Given the description of an element on the screen output the (x, y) to click on. 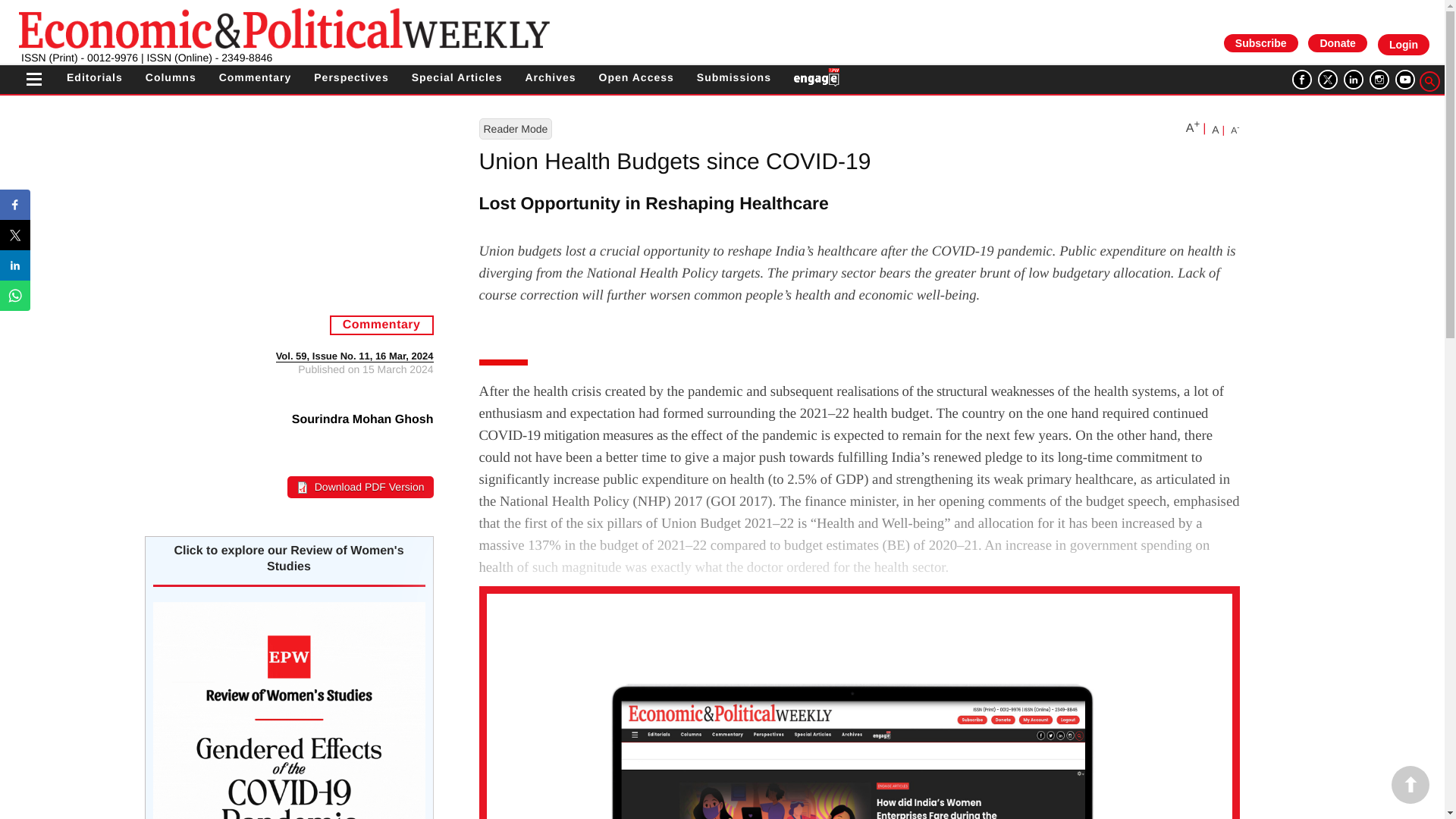
Columns (170, 77)
Editorials (94, 77)
Commentary (255, 77)
subscribe (1260, 42)
Commentary (255, 77)
Donate (1337, 42)
Archives (549, 77)
Donate (1337, 43)
donate (1337, 42)
Open Access (636, 77)
Perspectives (351, 77)
Special Articles (457, 77)
EPW Menu (34, 79)
Subscribe (1261, 43)
Perspectives (351, 77)
